Given the description of an element on the screen output the (x, y) to click on. 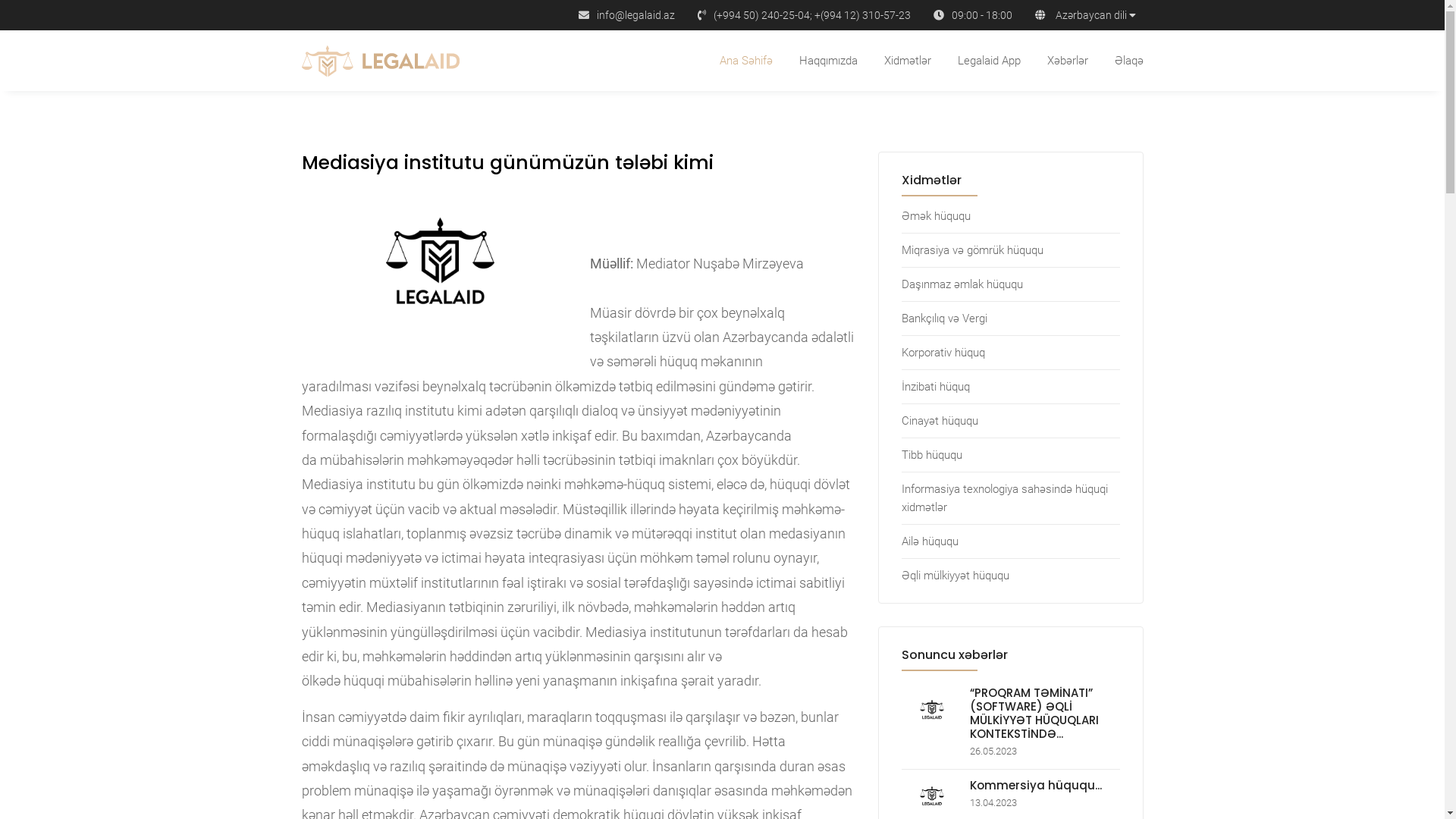
info@legalaid.az Element type: text (635, 15)
Legalaid App Element type: text (988, 60)
Legalaid App Element type: text (771, 396)
09:00 - 18:00 Element type: text (980, 15)
(+994 50) 240-25-04; +(994 12) 310-57-23 Element type: text (811, 15)
